Given the description of an element on the screen output the (x, y) to click on. 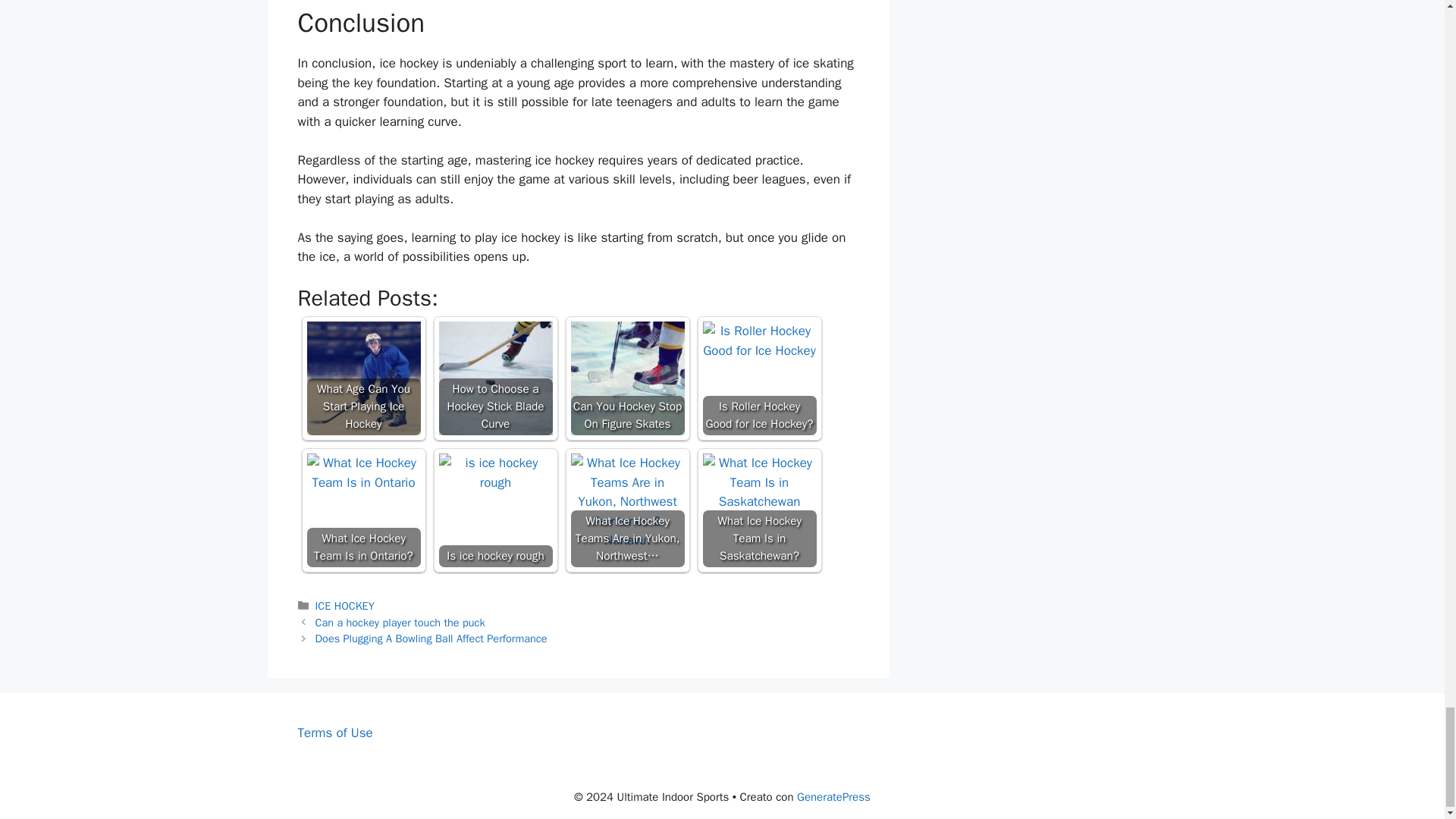
What Age Can You Start Playing Ice Hockey (362, 377)
What Age Can You Start Playing Ice Hockey (362, 377)
What Ice Hockey Team Is in Saskatchewan? (758, 510)
Is Roller Hockey Good for Ice Hockey? (758, 340)
Can You Hockey Stop On Figure Skates (627, 377)
What Ice Hockey Team Is in Ontario? (362, 472)
What Ice Hockey Team Is in Ontario? (362, 510)
How to Choose a Hockey Stick Blade Curve (494, 377)
Is ice hockey rough (494, 472)
Can a hockey player touch the puck (399, 622)
What Ice Hockey Team Is in Saskatchewan? (758, 482)
Does Plugging A Bowling Ball Affect Performance (431, 638)
Is Roller Hockey Good for Ice Hockey? (758, 377)
Is ice hockey rough (494, 510)
Can You Hockey Stop On Figure Skates (627, 377)
